Given the description of an element on the screen output the (x, y) to click on. 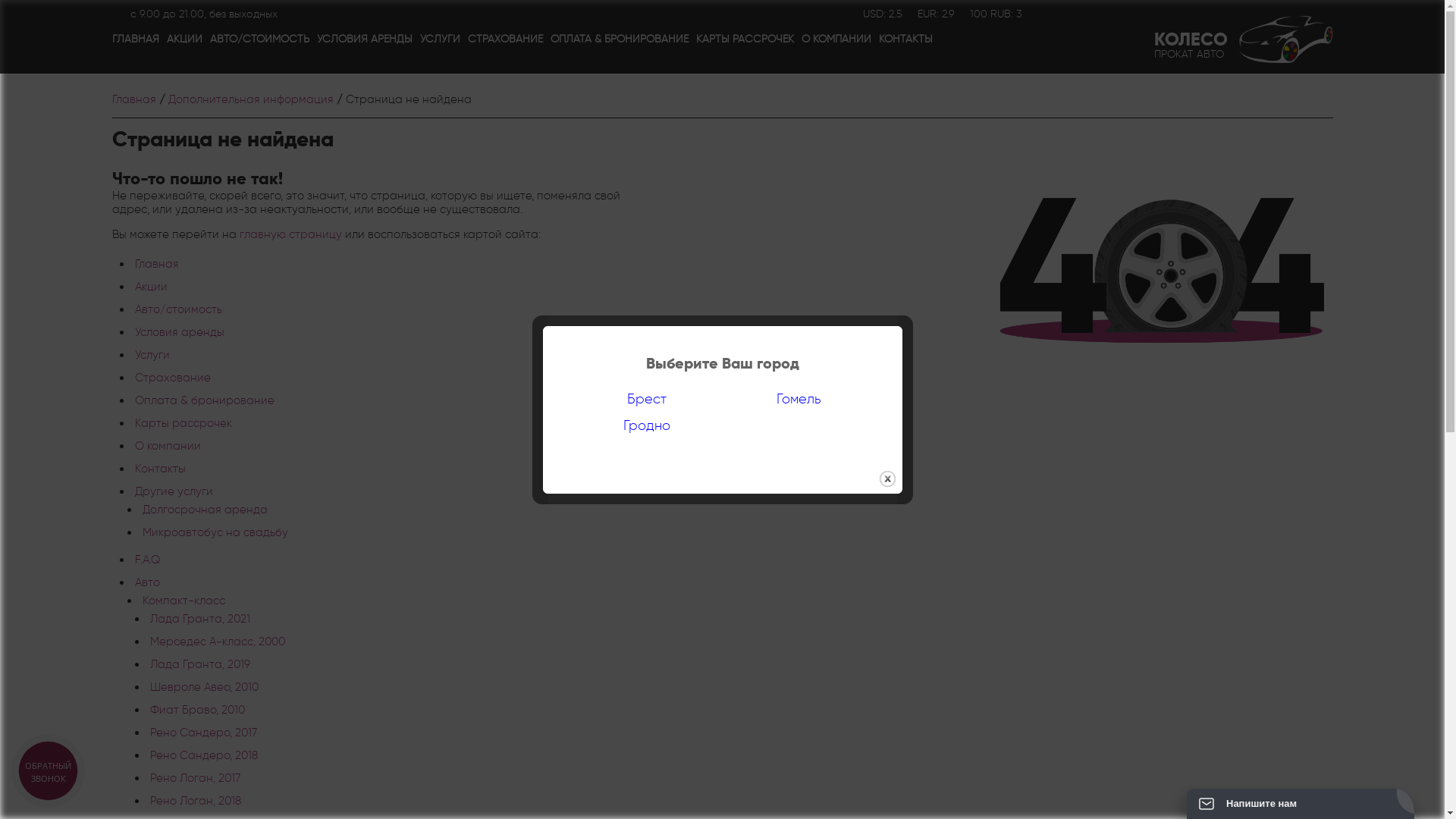
F.A.Q Element type: text (147, 559)
